Given the description of an element on the screen output the (x, y) to click on. 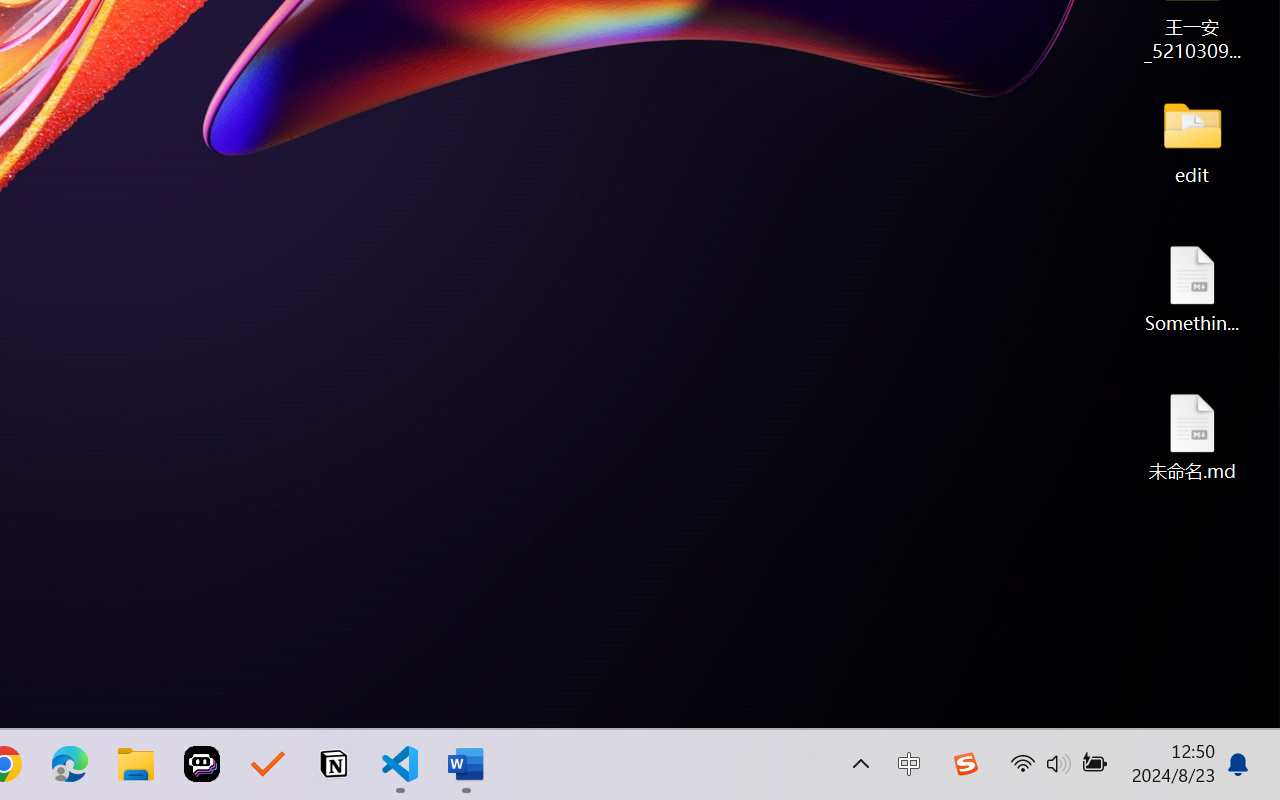
Something.md (1192, 288)
edit (1192, 140)
Microsoft Edge (69, 764)
